Given the description of an element on the screen output the (x, y) to click on. 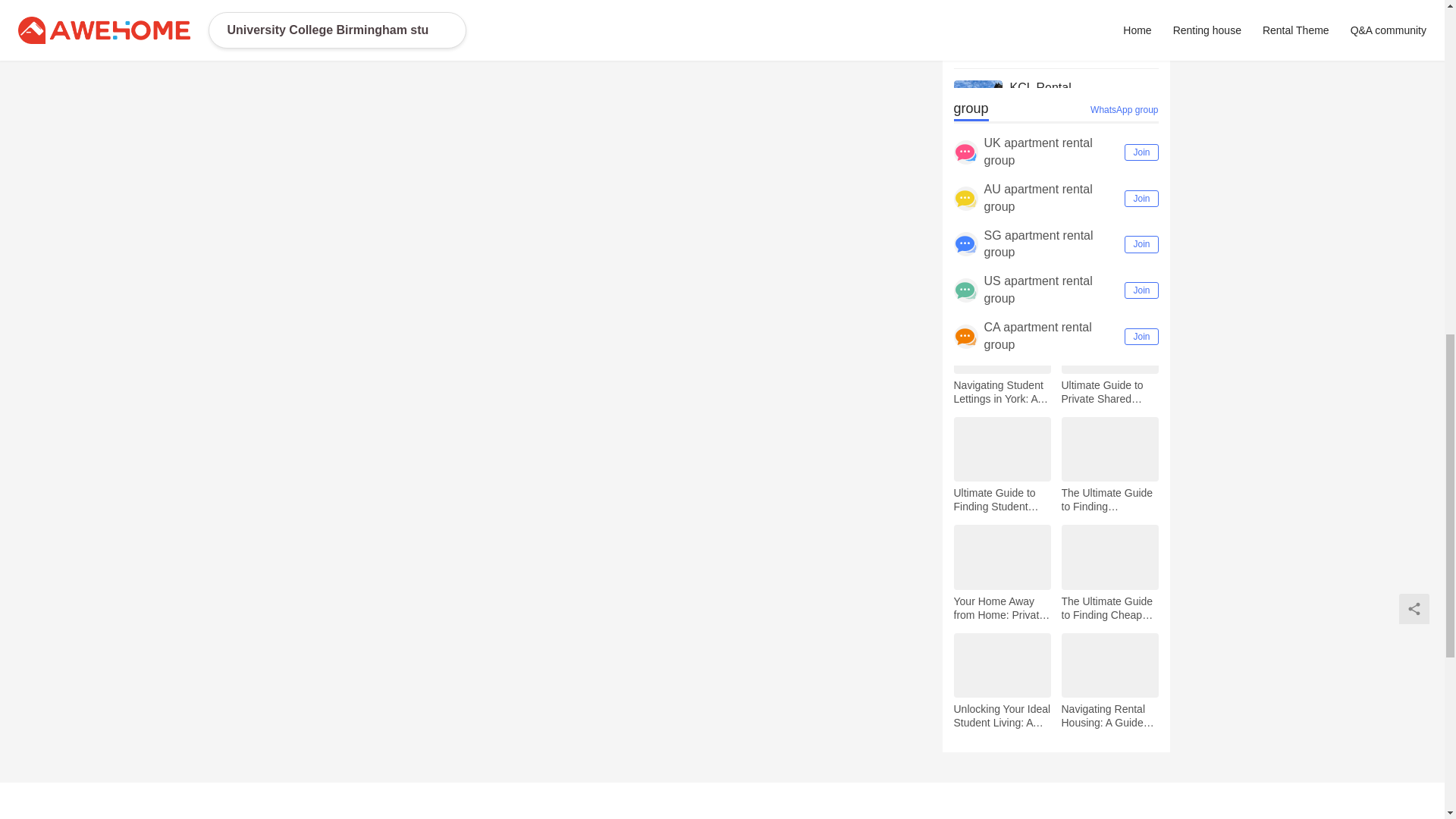
KCL Rental (1084, 87)
UTS Rental (1084, 15)
